Given the description of an element on the screen output the (x, y) to click on. 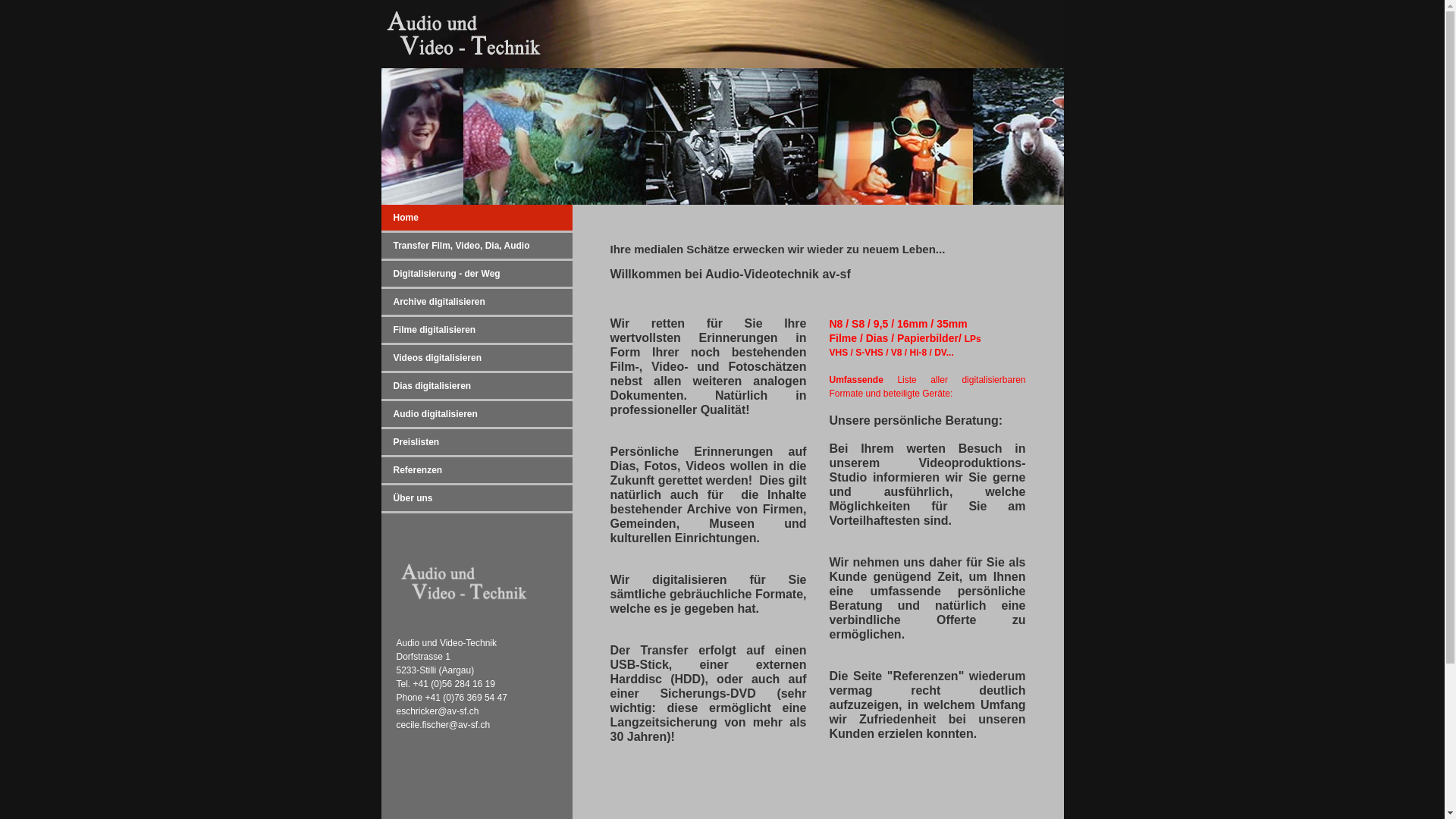
Archive digitalisieren Element type: text (475, 301)
Preislisten Element type: text (475, 442)
+41 (0)76 369 54 47 Element type: text (466, 697)
Dias digitalisieren Element type: text (475, 385)
eschricker@av-sf.ch Element type: text (436, 711)
Digitalisierung - der Weg Element type: text (475, 273)
cecile.fischer@av-sf.ch Element type: text (442, 724)
Transfer Film, Video, Dia, Audio Element type: text (475, 245)
Homepage Element type: hover (463, 33)
Videos digitalisieren Element type: text (475, 357)
Filme digitalisieren Element type: text (475, 329)
Home Element type: text (475, 217)
+41 (0)56 284 16 19 Element type: text (454, 683)
Referenzen Element type: text (475, 470)
Audio digitalisieren Element type: text (475, 413)
